Given the description of an element on the screen output the (x, y) to click on. 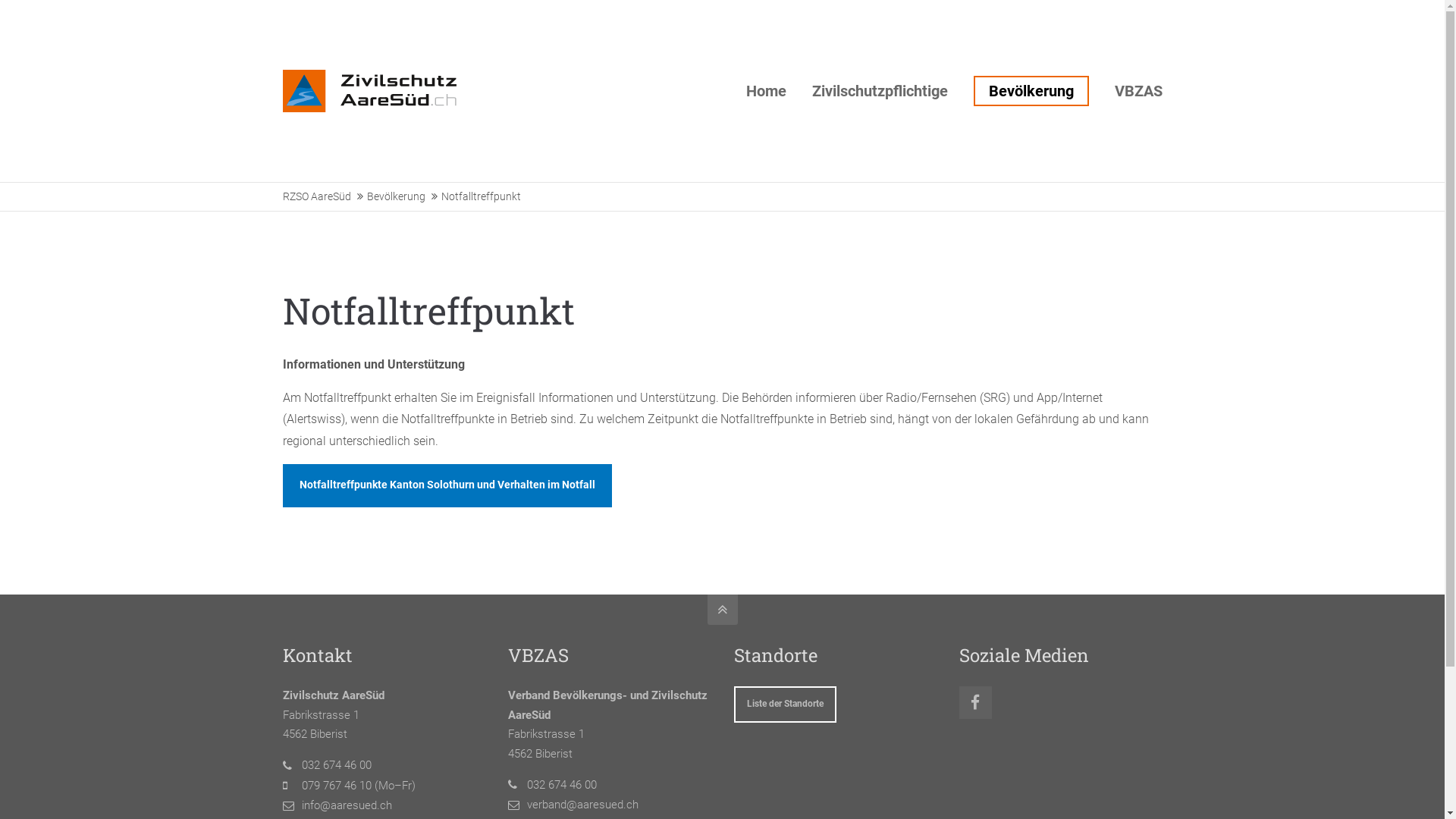
032 674 46 00 Element type: text (561, 784)
Links Element type: text (1059, 22)
079 767 46 10 Element type: text (336, 785)
032 674 46 00 Element type: text (336, 764)
Liste der Standorte Element type: text (785, 704)
032 674 46 00 Element type: text (433, 22)
verband@aaresued.ch Element type: text (582, 804)
info@aaresued.ch Element type: text (679, 22)
Home Element type: text (926, 22)
Notfalltreffpunkt Element type: text (480, 196)
Zivilschutzpflichtige Element type: text (879, 90)
Home Element type: text (766, 90)
Notfalltreffpunkte Kanton Solothurn und Verhalten im Notfall Element type: text (446, 485)
VBZAS Element type: text (1138, 90)
Aktuell Element type: text (966, 22)
Kontakt Element type: text (1100, 22)
info@aaresued.ch Element type: text (346, 805)
